Given the description of an element on the screen output the (x, y) to click on. 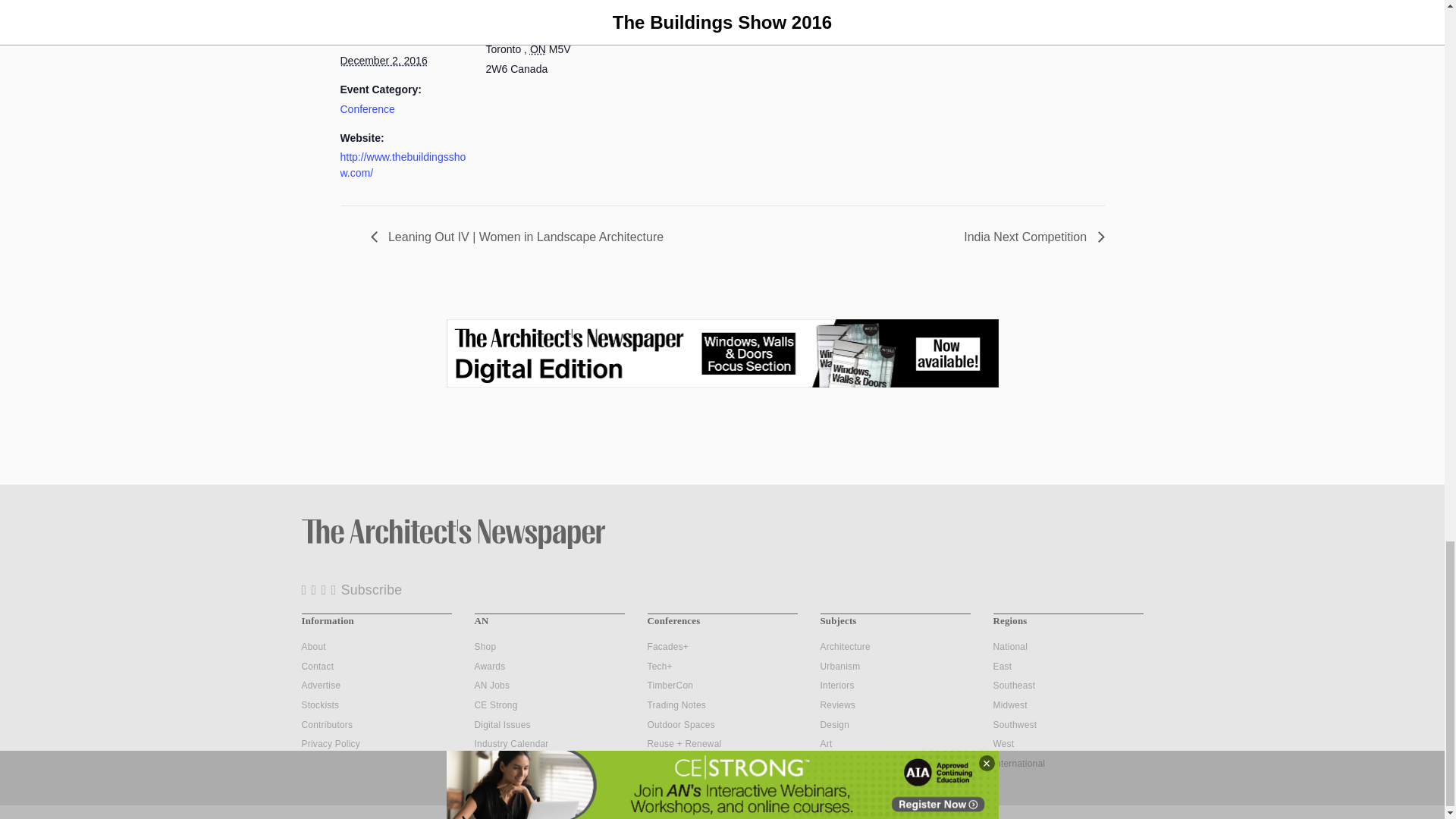
2016-12-02 (382, 60)
2016-11-30 (385, 11)
ON (537, 49)
